Given the description of an element on the screen output the (x, y) to click on. 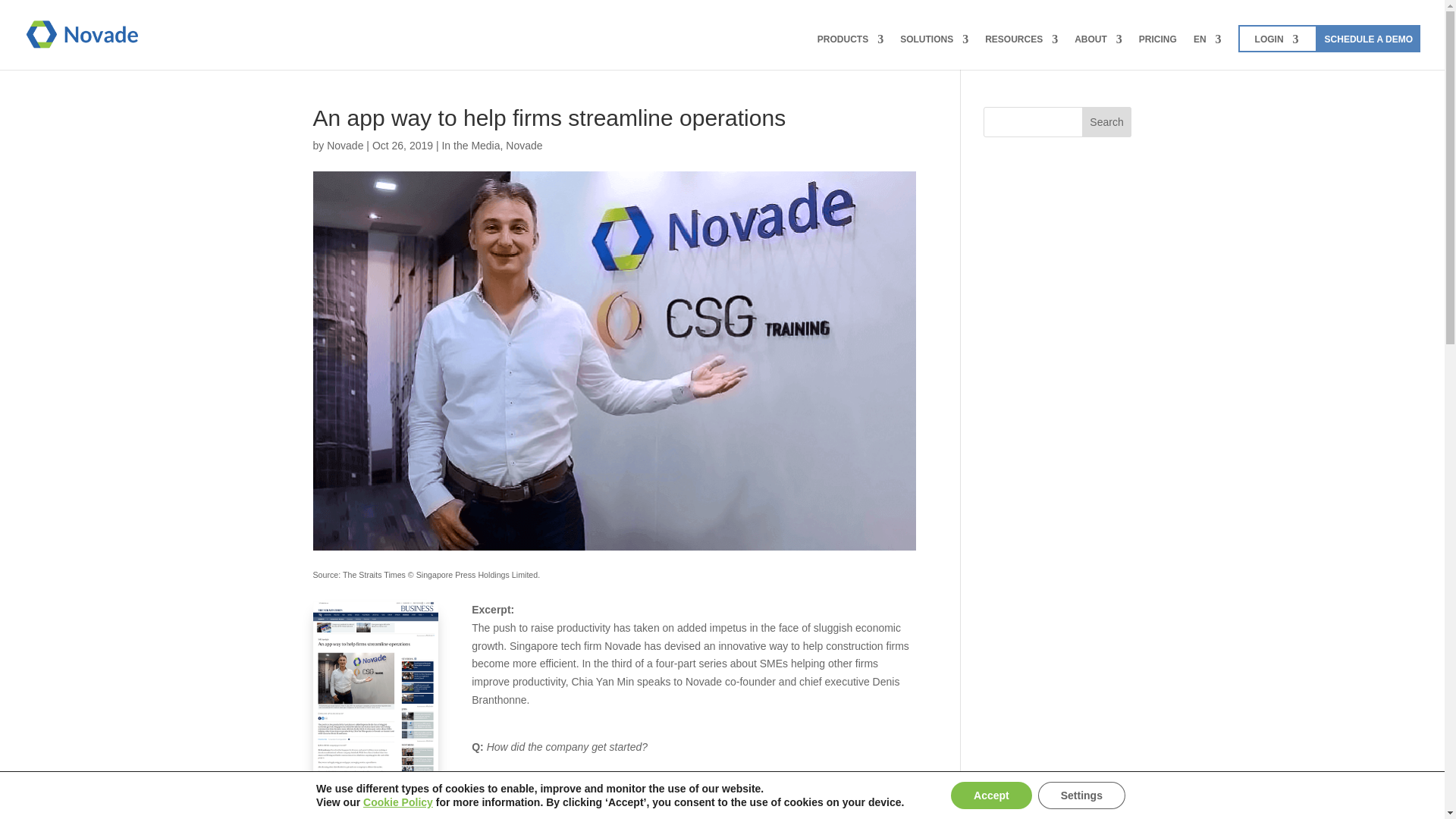
Search (1106, 122)
RESOURCES (1021, 51)
PRODUCTS (849, 51)
Posts by Novade (344, 145)
SOLUTIONS (933, 51)
